Given the description of an element on the screen output the (x, y) to click on. 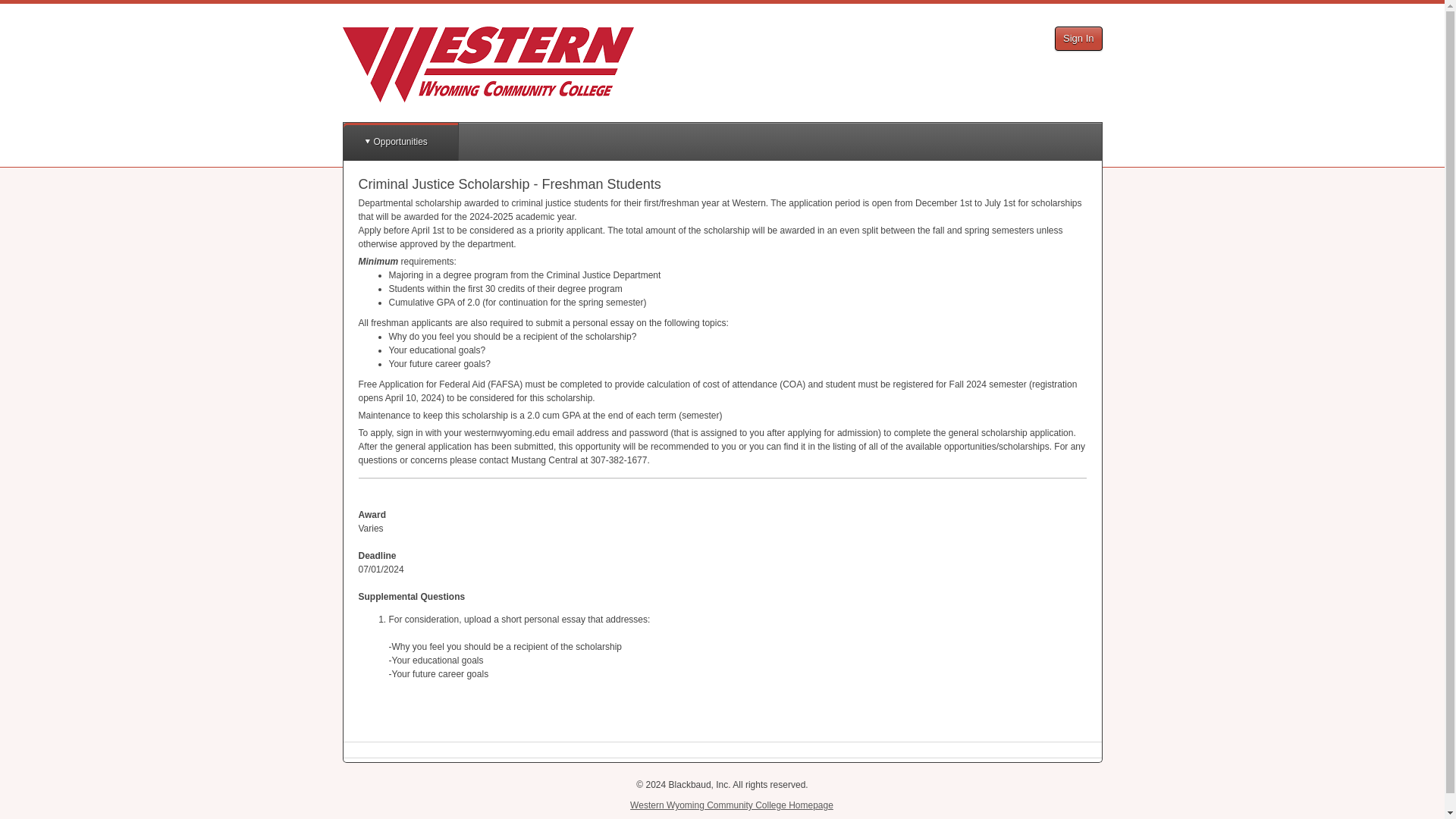
Western Wyoming Community College Scholarships (487, 64)
Sign In (1078, 38)
Opportunities (399, 141)
Western Wyoming Community College Homepage (731, 805)
